Given the description of an element on the screen output the (x, y) to click on. 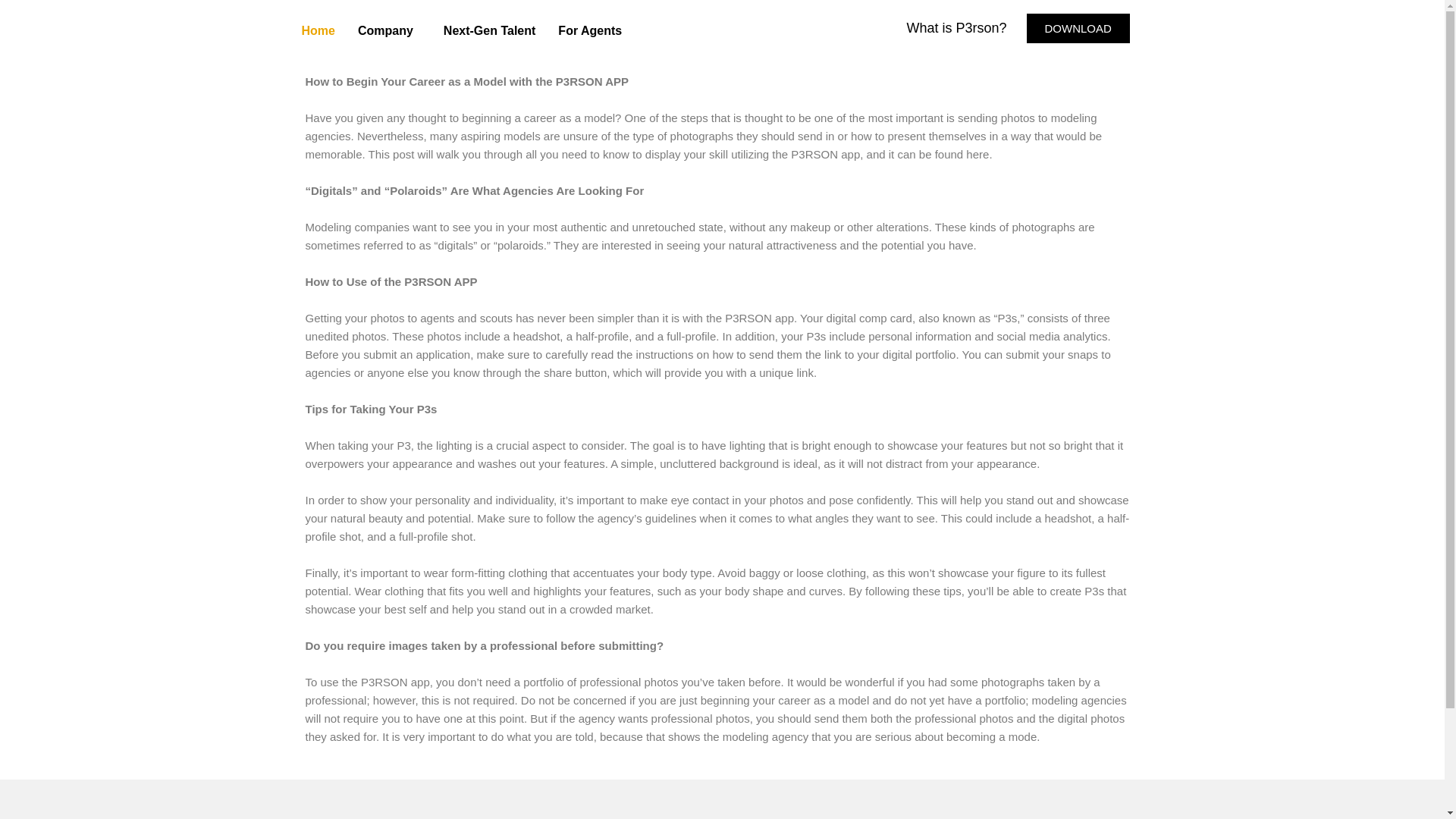
DOWNLOAD (1078, 27)
What is P3rson? (955, 28)
Company (389, 30)
Next-Gen Talent (489, 30)
For Agents (590, 30)
Home (317, 30)
